Given the description of an element on the screen output the (x, y) to click on. 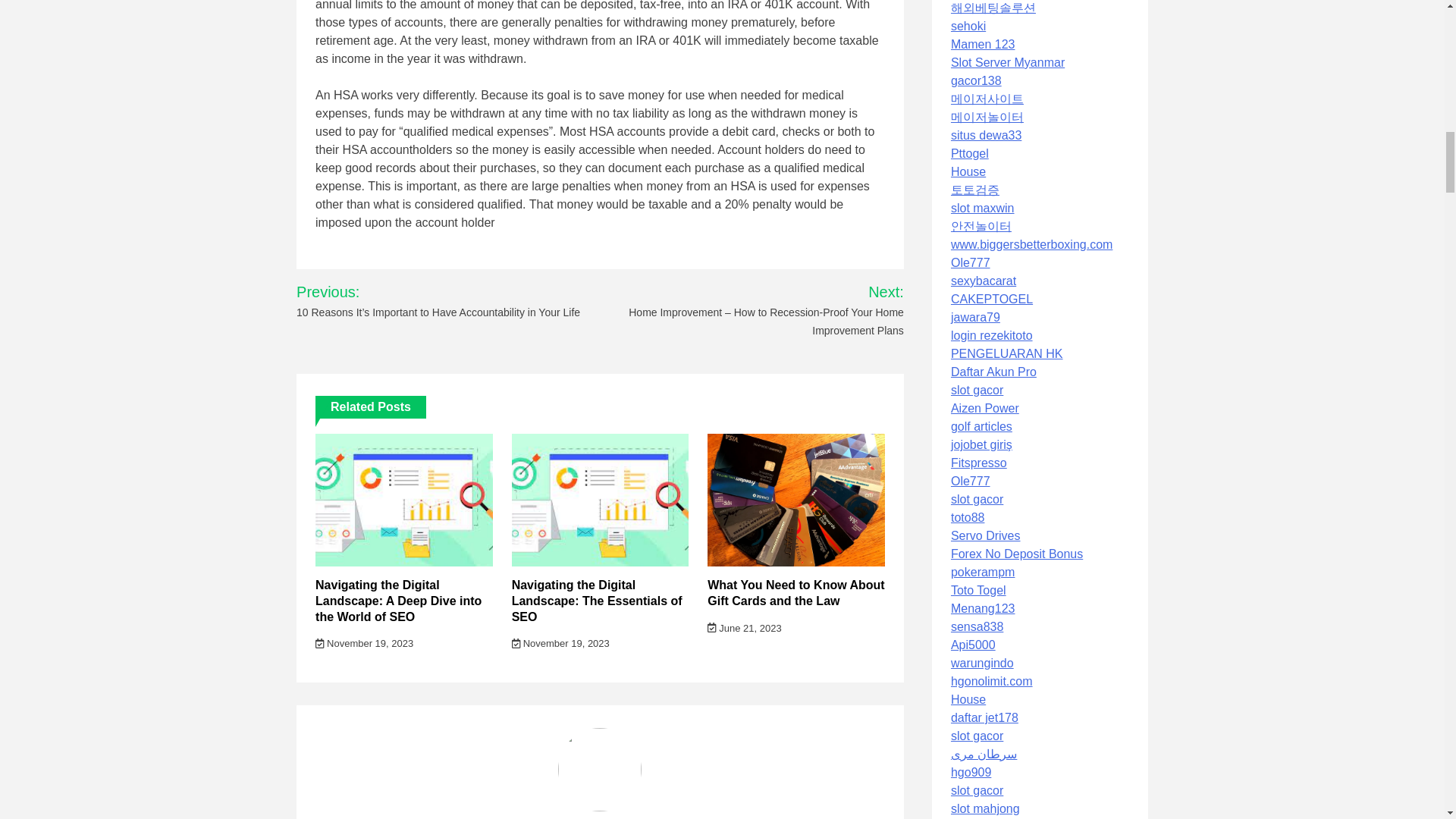
What You Need to Know About Gift Cards and the Law (795, 592)
November 19, 2023 (561, 643)
Navigating the Digital Landscape: The Essentials of SEO (597, 600)
June 21, 2023 (743, 627)
November 19, 2023 (364, 643)
